Given the description of an element on the screen output the (x, y) to click on. 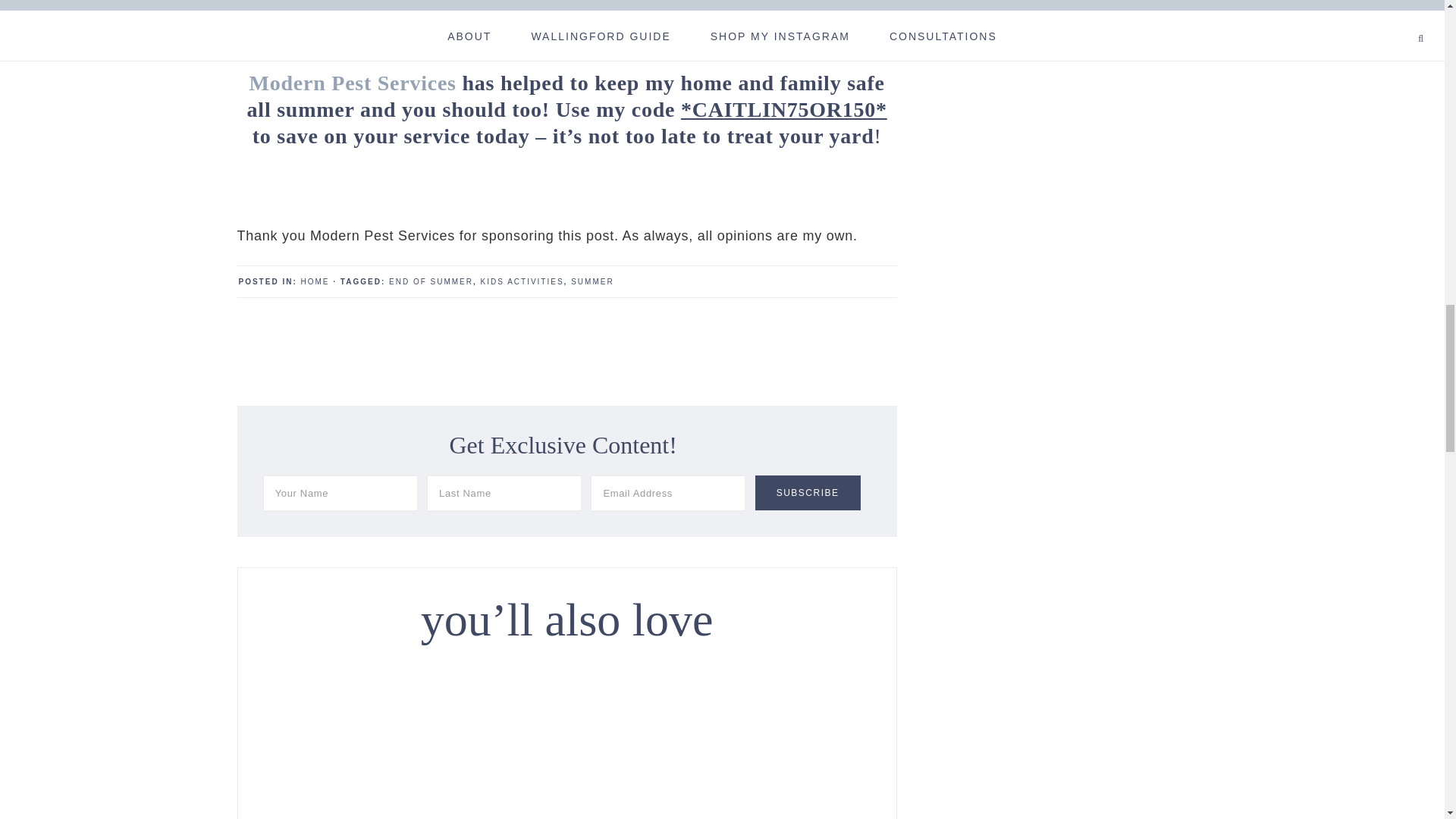
Modern Pest Services (352, 83)
Subscribe (807, 492)
SUMMER (591, 281)
Subscribe (807, 492)
KIDS ACTIVITIES (522, 281)
END OF SUMMER (430, 281)
HOME (315, 281)
